Given the description of an element on the screen output the (x, y) to click on. 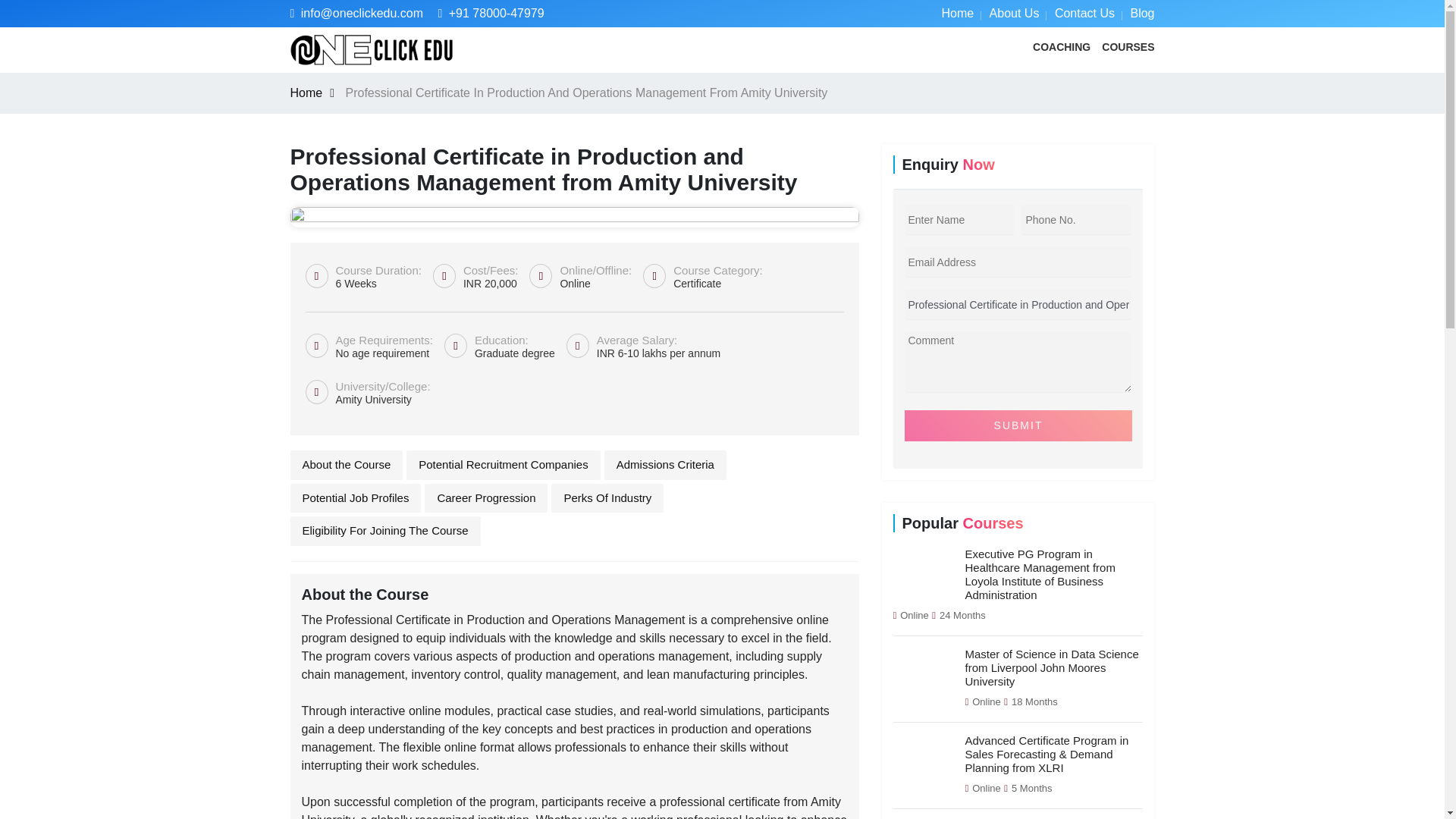
Potential Recruitment Companies (502, 464)
COURSES (1128, 47)
Contact Us (1084, 12)
Blog (1141, 12)
Home (957, 12)
COACHING (1061, 47)
Potential Job Profiles (354, 498)
Career Progression (486, 498)
